Given the description of an element on the screen output the (x, y) to click on. 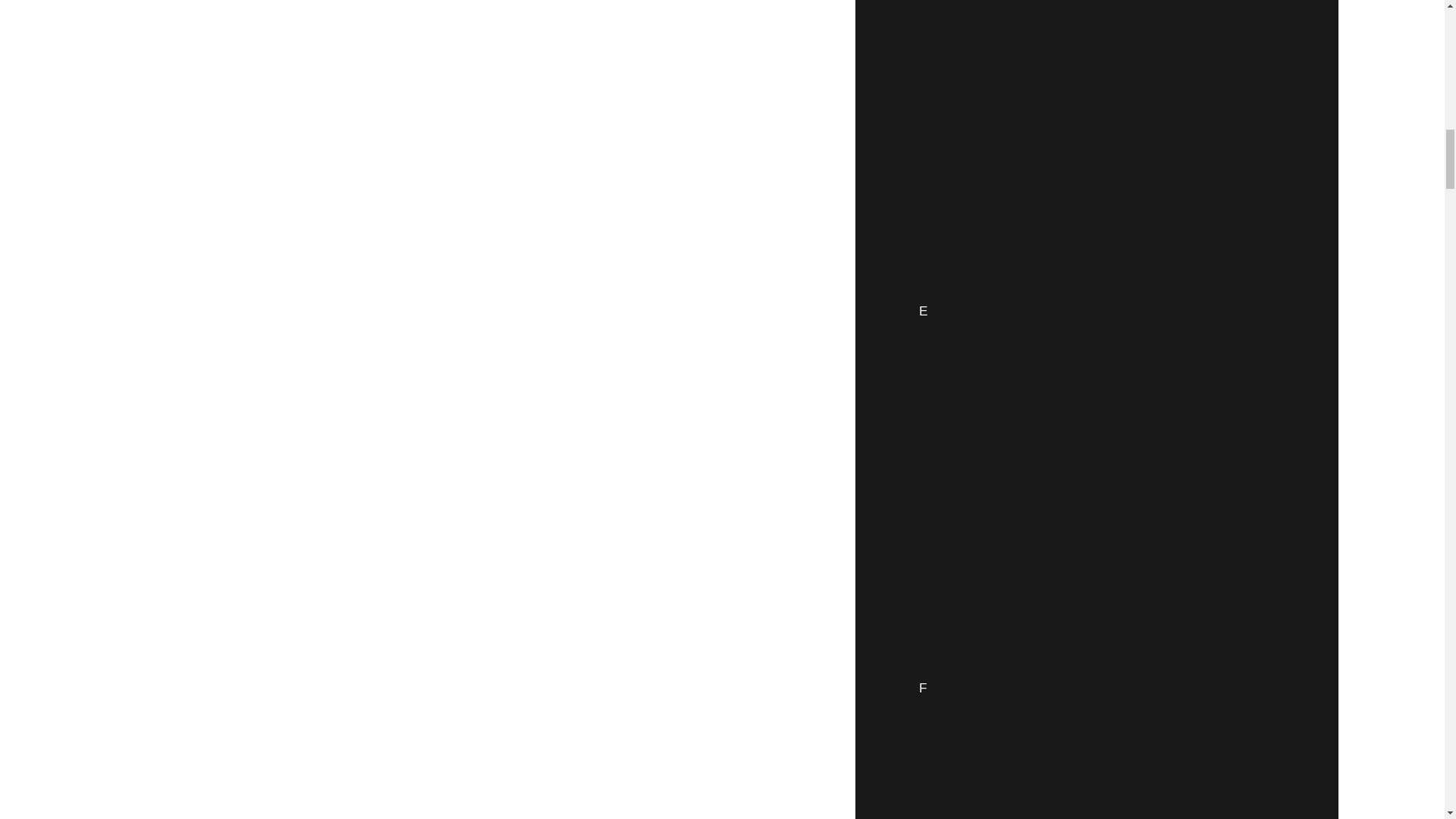
Open child menu of E (1101, 311)
Open child menu of D (1102, 53)
Open child menu of F (1101, 667)
